Given the description of an element on the screen output the (x, y) to click on. 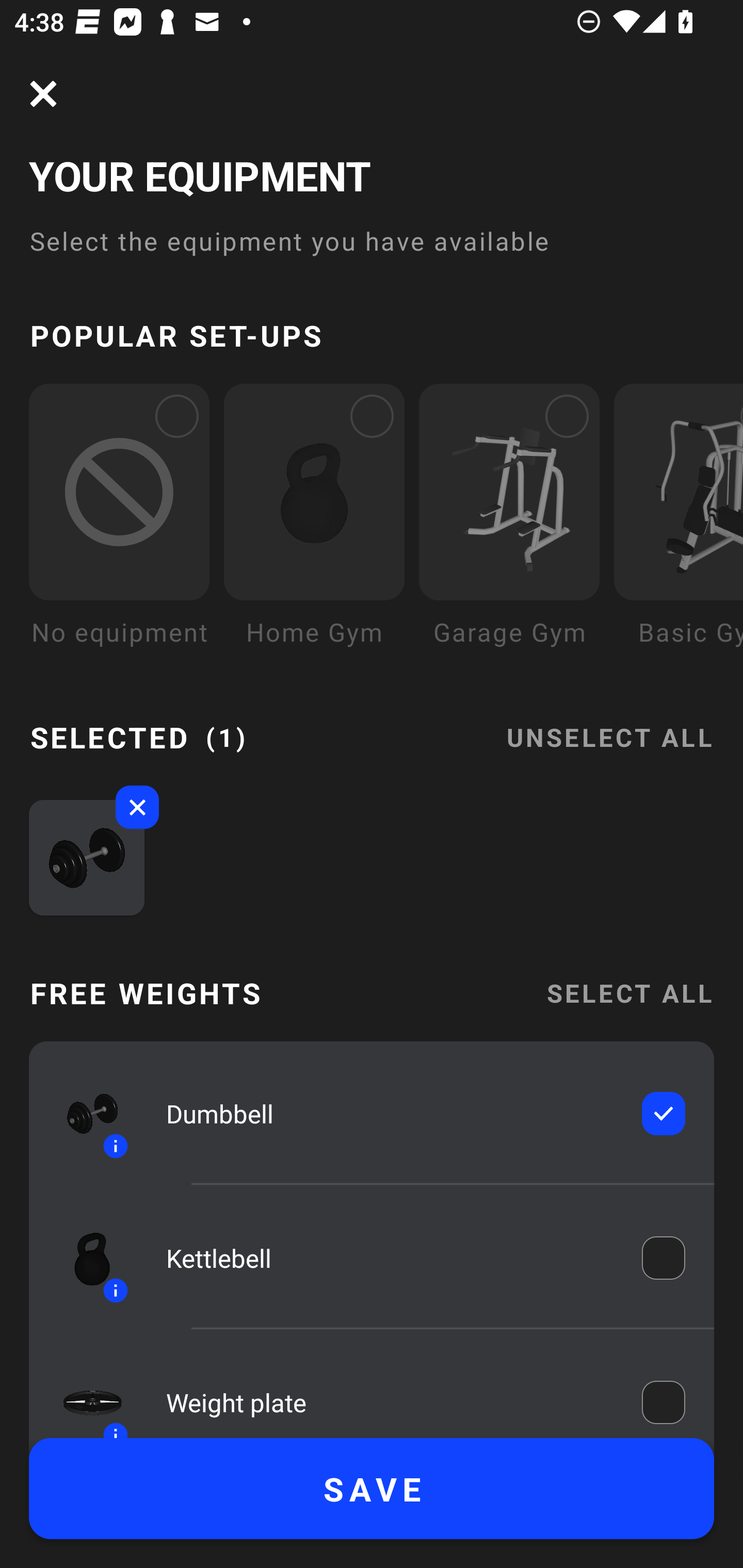
Navigation icon (43, 93)
UNSELECT ALL (609, 725)
SELECT ALL (629, 993)
Equipment icon Information icon (82, 1113)
Dumbbell (389, 1113)
Equipment icon Information icon (82, 1258)
Kettlebell (389, 1258)
Equipment icon Information icon (82, 1392)
Weight plate (389, 1398)
SAVE (371, 1488)
